Given the description of an element on the screen output the (x, y) to click on. 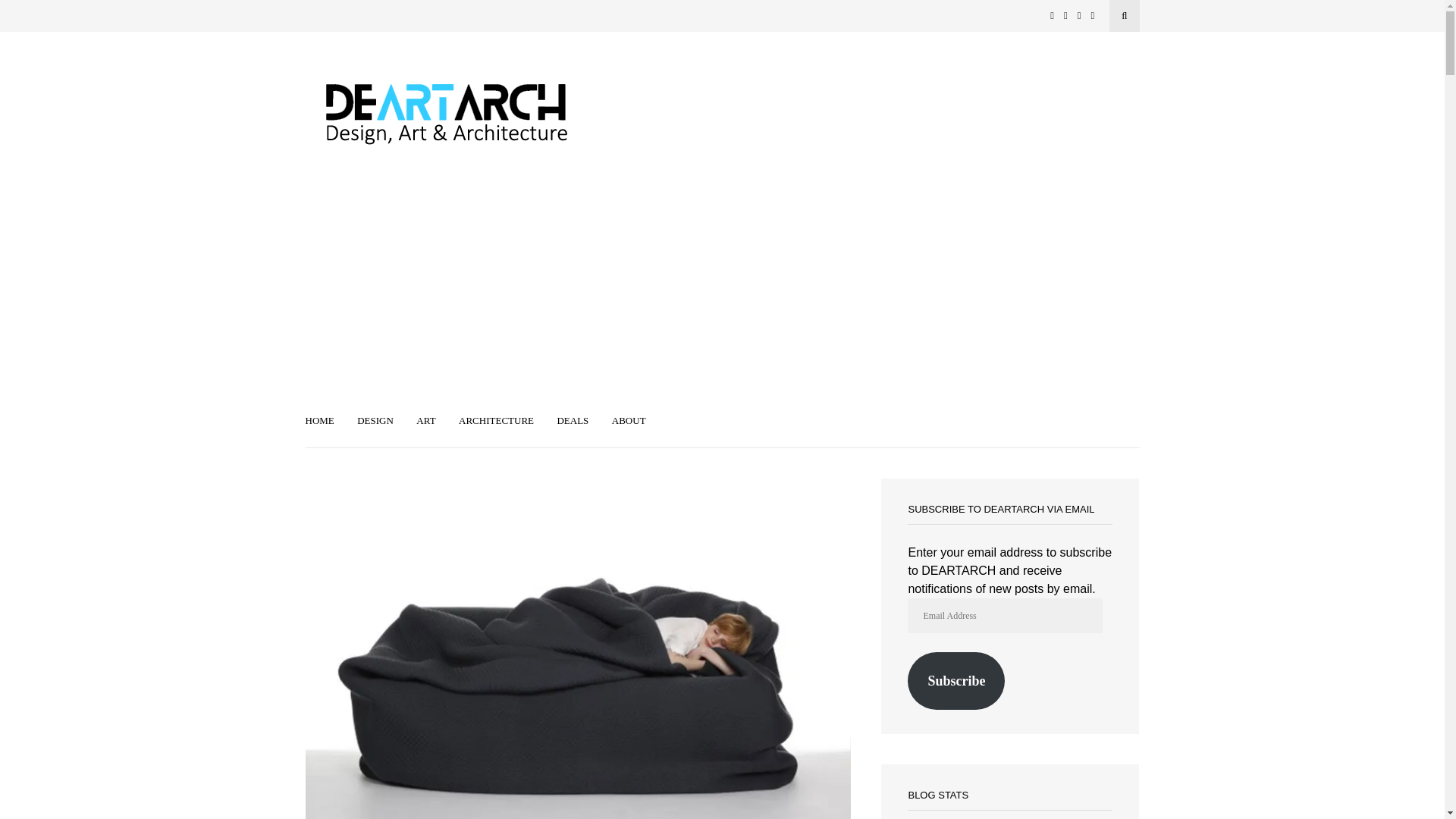
ARCHITECTURE (496, 421)
